Given the description of an element on the screen output the (x, y) to click on. 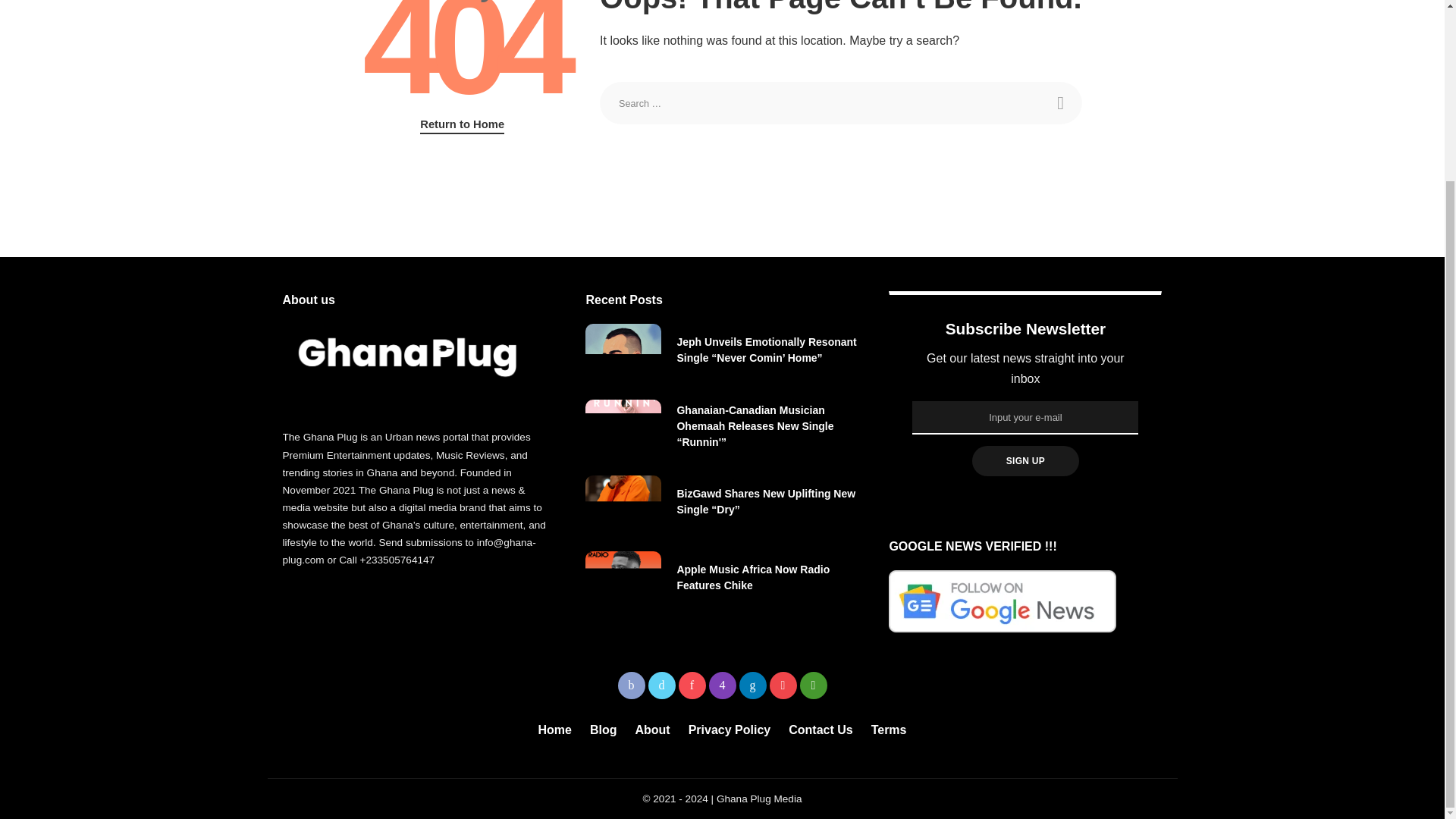
Search (1060, 102)
Search (1060, 102)
